Given the description of an element on the screen output the (x, y) to click on. 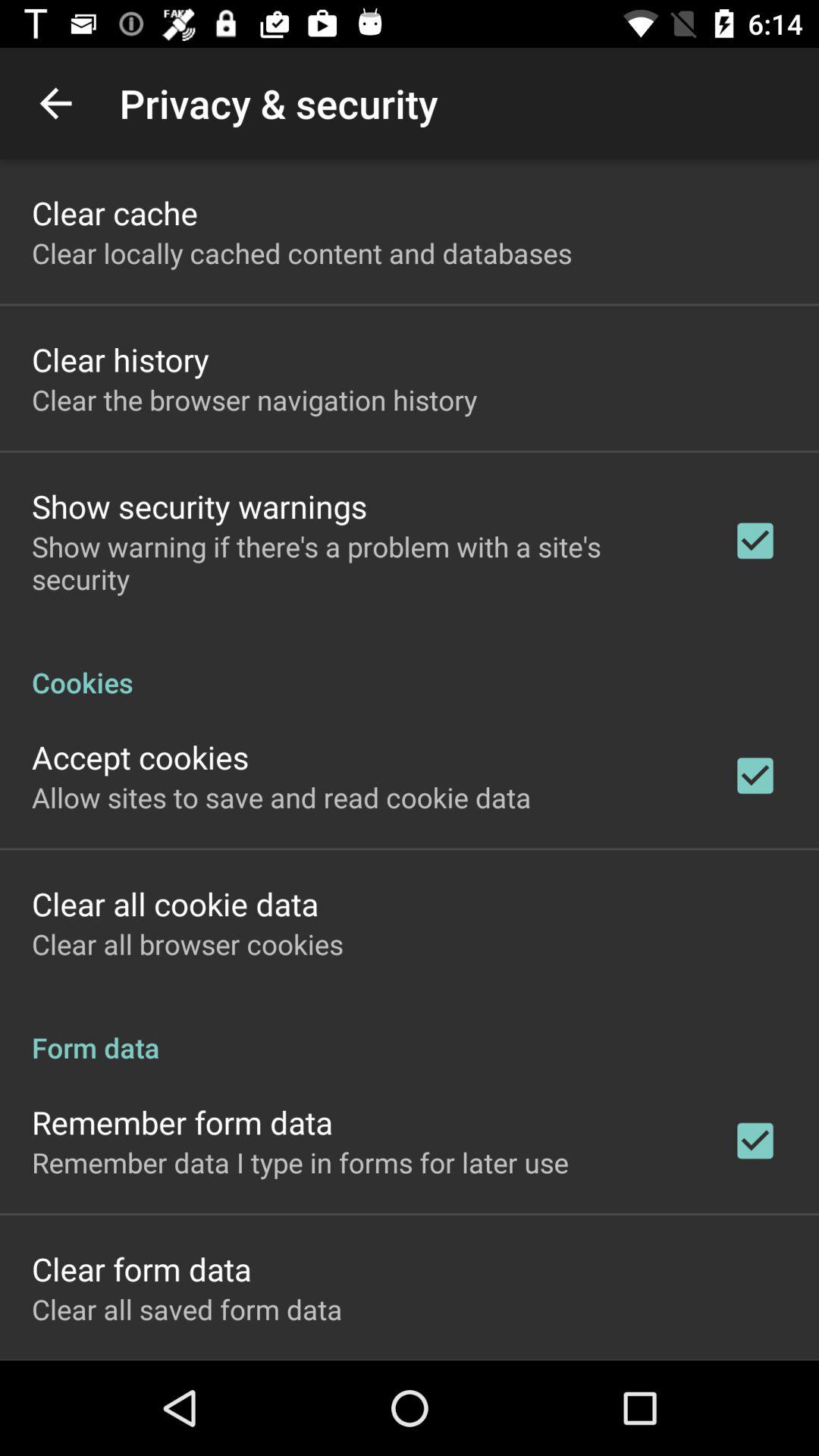
swipe until the accept cookies app (140, 756)
